Given the description of an element on the screen output the (x, y) to click on. 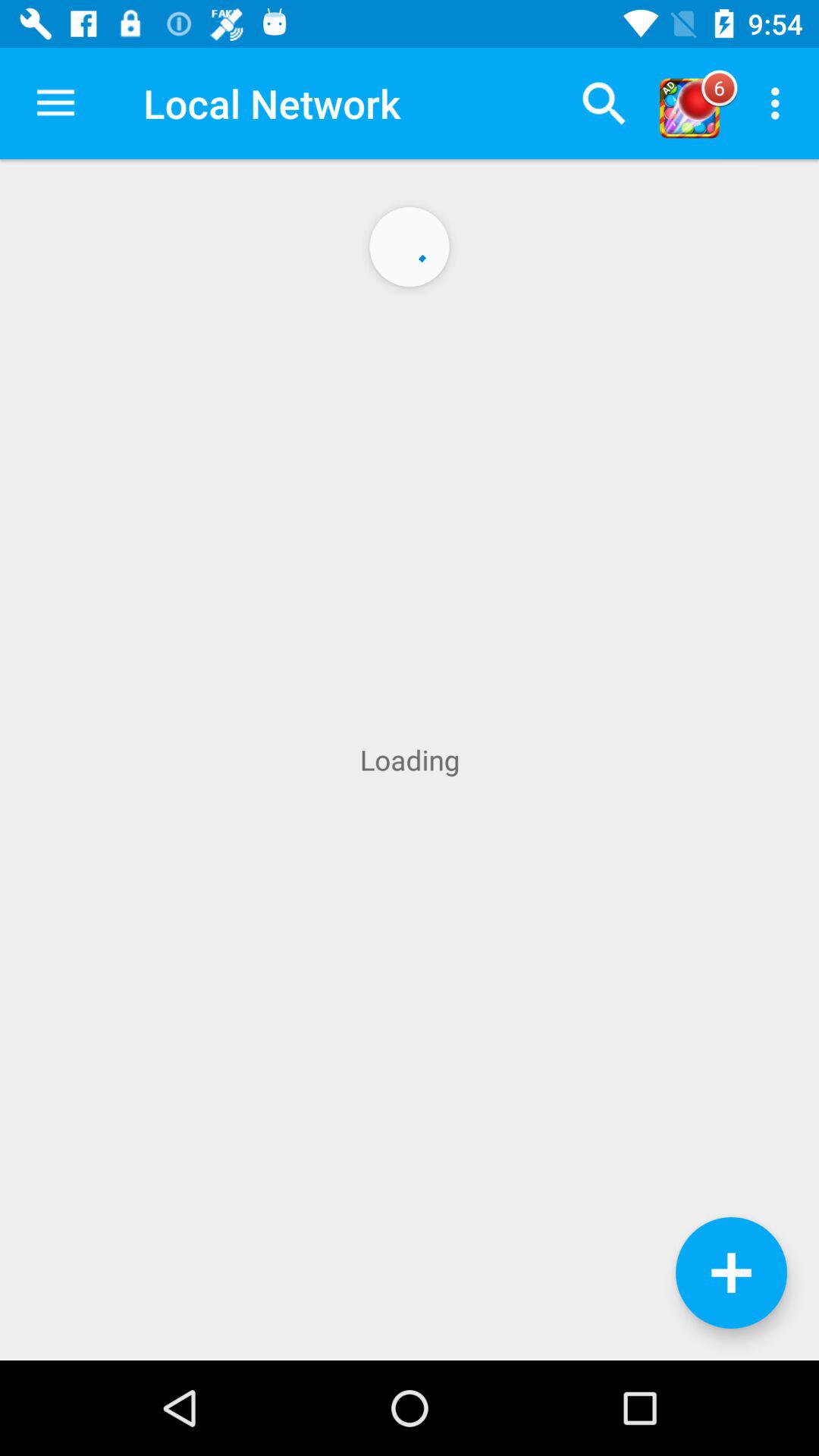
more options (731, 1272)
